Given the description of an element on the screen output the (x, y) to click on. 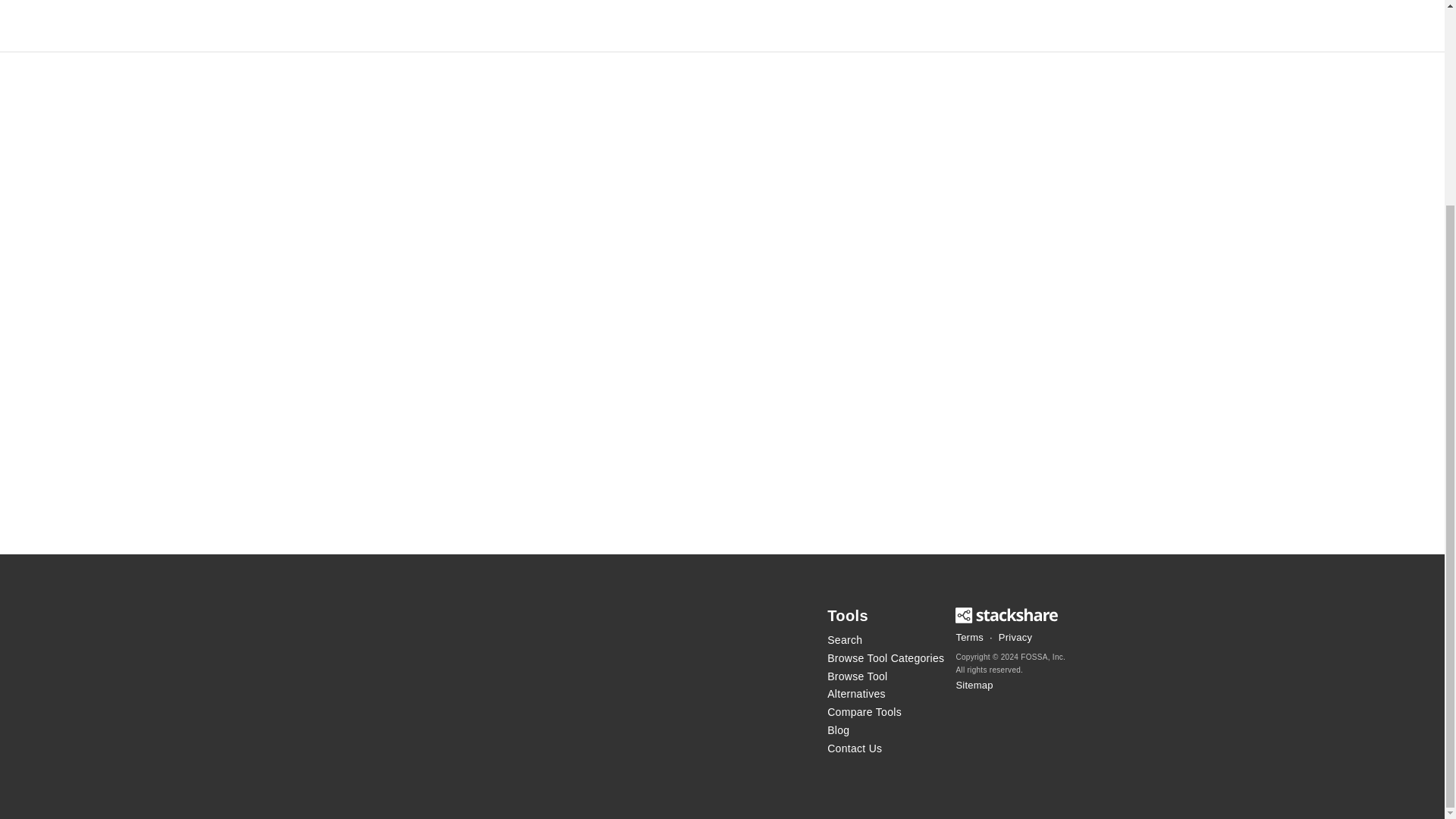
Search (885, 640)
Featured Posts (885, 730)
Browse Tool Categories (885, 659)
Browse Tool Alternatives (885, 686)
Contact Us (885, 749)
Compare Tools (885, 712)
Blog (885, 730)
Sitemap (973, 685)
Privacy (1015, 637)
Contact Us (885, 749)
